Given the description of an element on the screen output the (x, y) to click on. 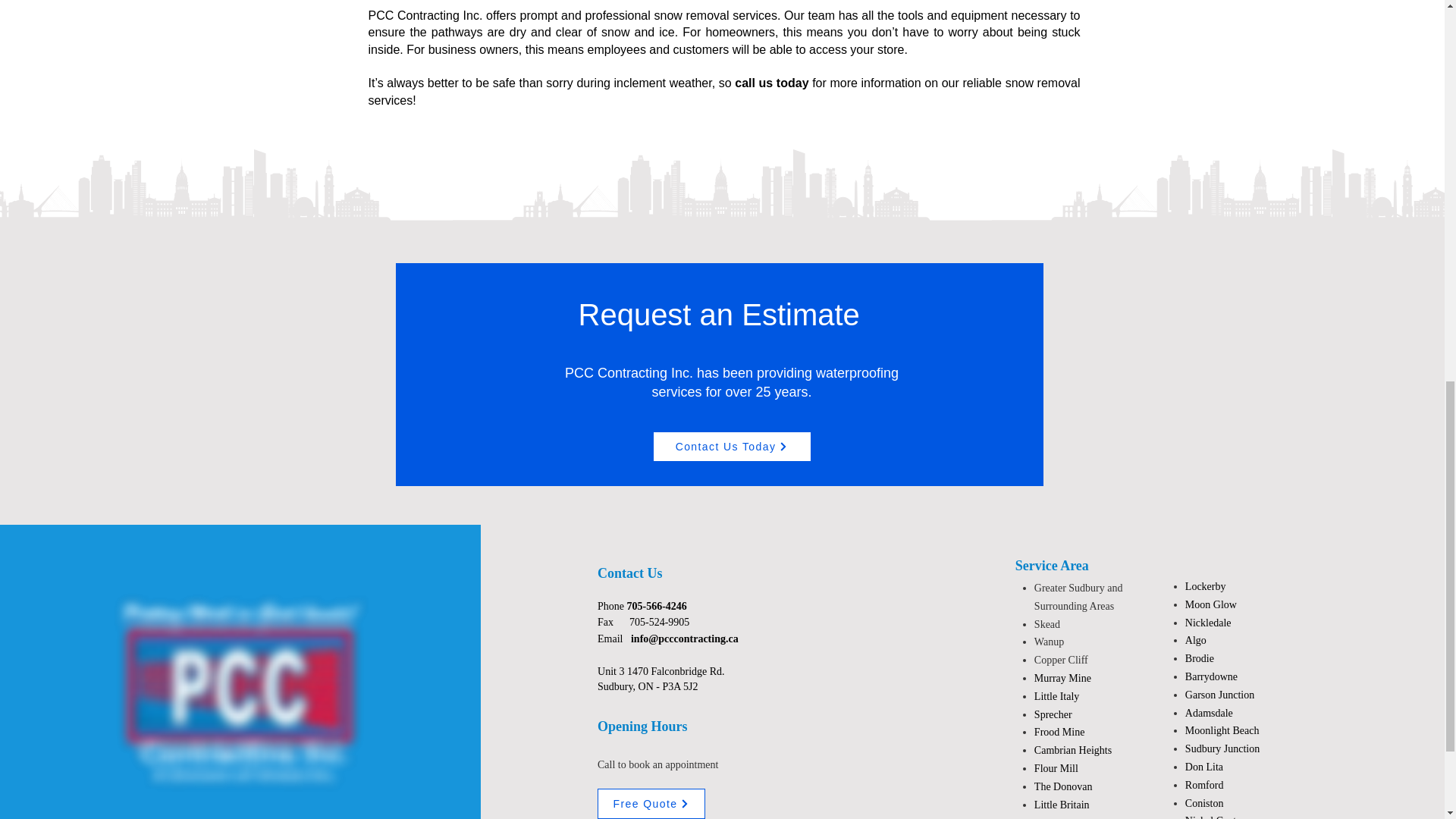
705-566-4246 (657, 605)
.ca  (733, 638)
Free Quote (650, 803)
call us today (771, 82)
Contact Us Today (731, 446)
